Given the description of an element on the screen output the (x, y) to click on. 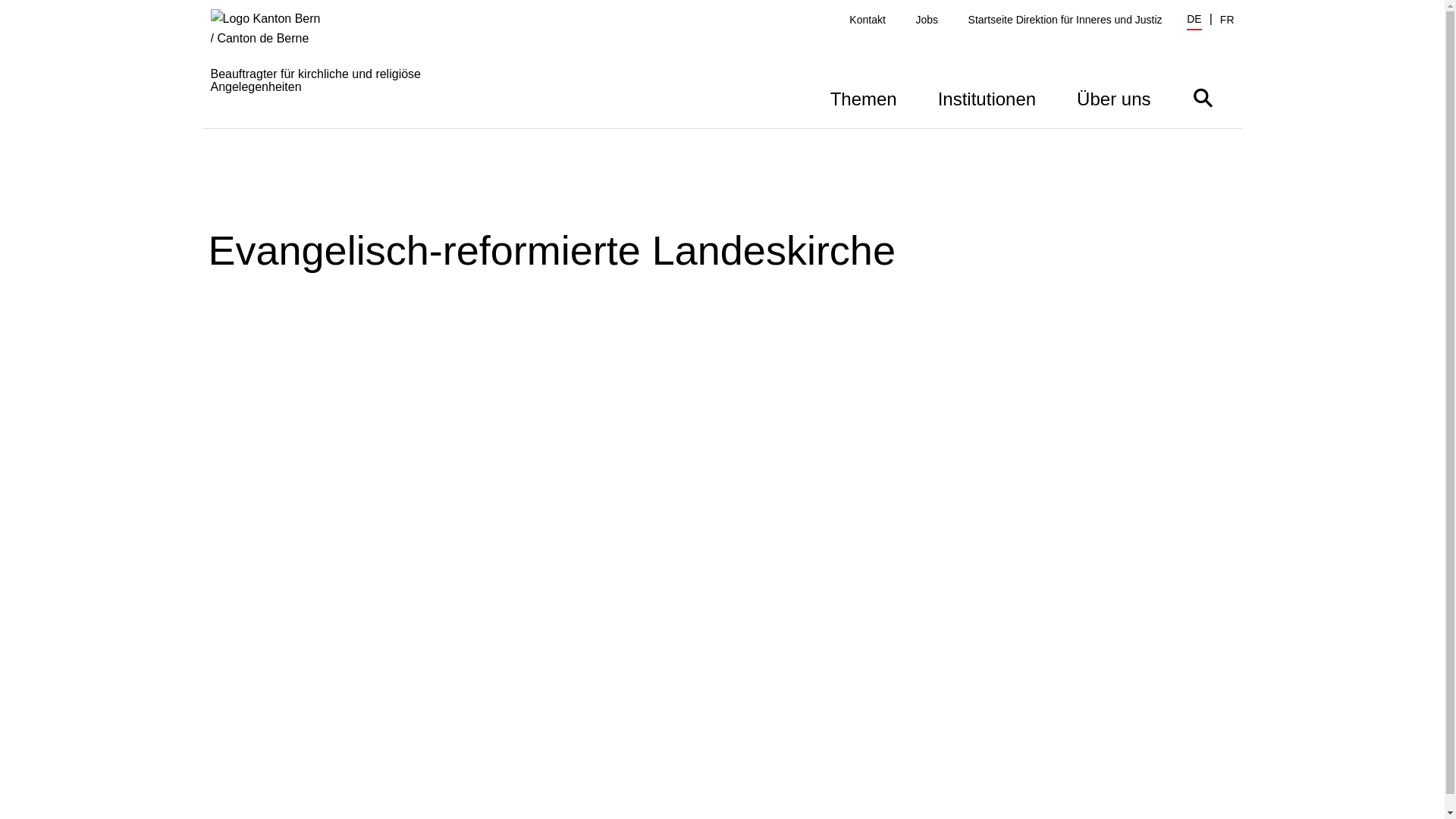
Kontakt Element type: text (866, 19)
Suche ein- oder ausblenden Element type: text (1201, 96)
FR Element type: text (1227, 19)
Institutionen Element type: text (986, 96)
Themen Element type: text (863, 96)
Jobs Element type: text (926, 19)
DE Element type: text (1193, 21)
